Given the description of an element on the screen output the (x, y) to click on. 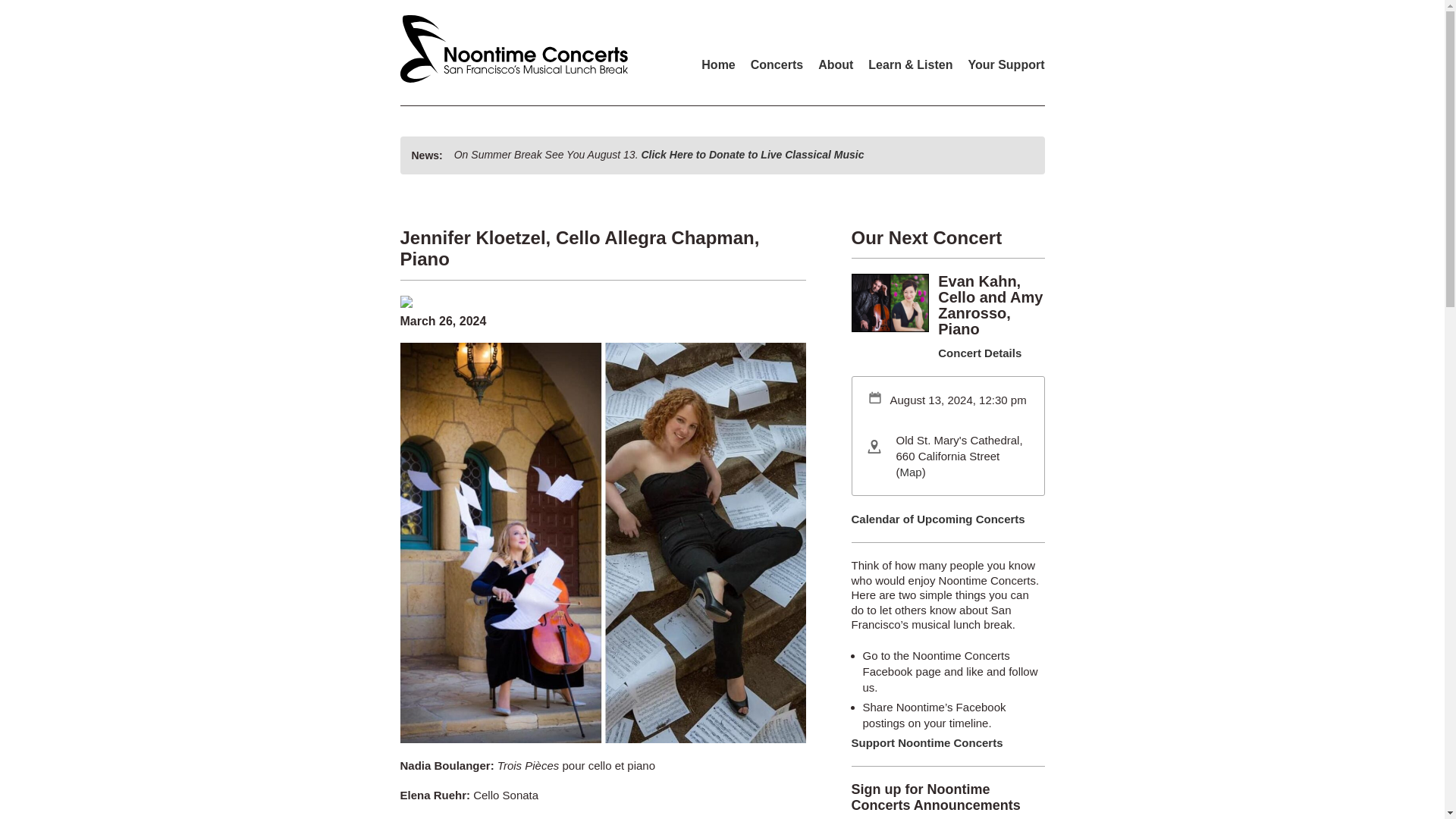
Concerts (777, 64)
About (835, 64)
Click Here to Donate to Live Classical Music (751, 154)
Home (718, 64)
Your Support (1005, 64)
